Given the description of an element on the screen output the (x, y) to click on. 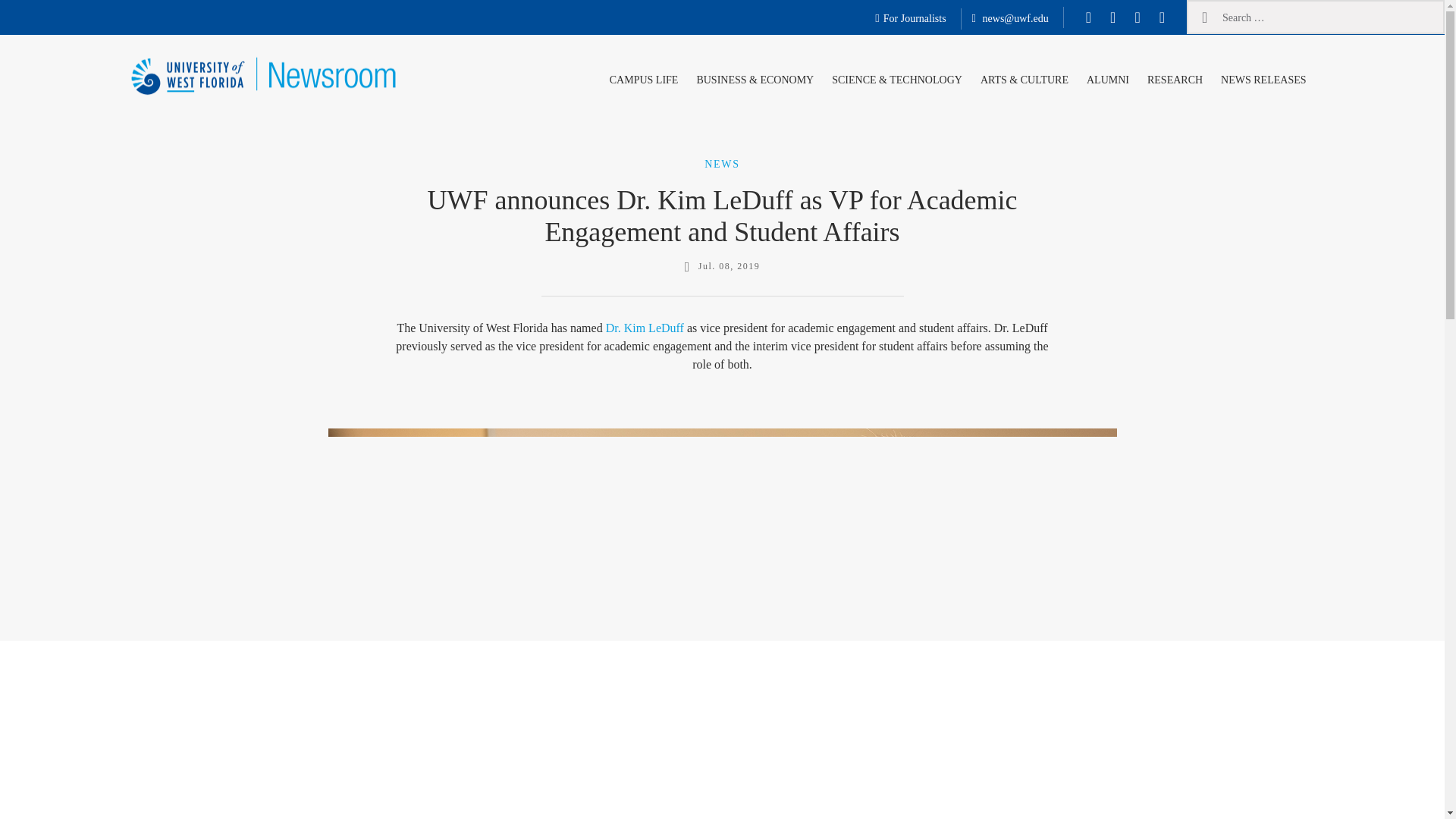
ALUMNI (1107, 77)
For Journalists (909, 19)
Contact us (1010, 19)
Follow us on X (1112, 17)
Connect with us on Linkedin (1161, 17)
NEWS RELEASES (1262, 77)
University of West Florida Newsroom (223, 124)
NEWS (721, 163)
Find us on Facebook (1088, 17)
CAMPUS LIFE (643, 77)
